Given the description of an element on the screen output the (x, y) to click on. 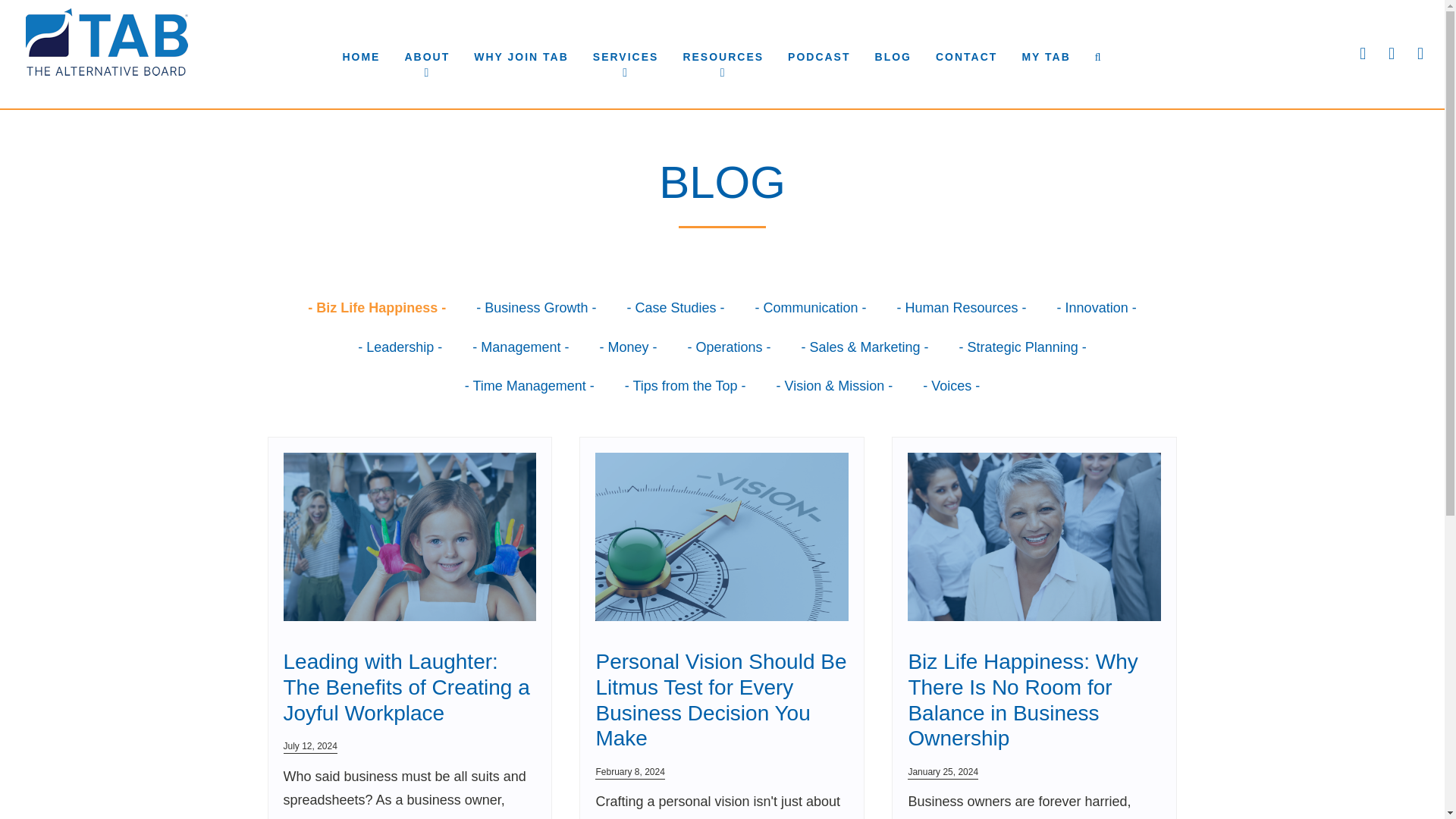
MY TAB (1045, 57)
Communication (809, 308)
Leadership (399, 346)
Innovation (1096, 308)
Case Studies (675, 308)
ABOUT (426, 57)
PODCAST (818, 57)
BLOG (893, 57)
CONTACT (966, 57)
Human Resources (962, 308)
WHY JOIN TAB (520, 57)
HOME (360, 57)
SERVICES (625, 57)
RESOURCES (722, 57)
Biz Life Happiness (376, 308)
